Given the description of an element on the screen output the (x, y) to click on. 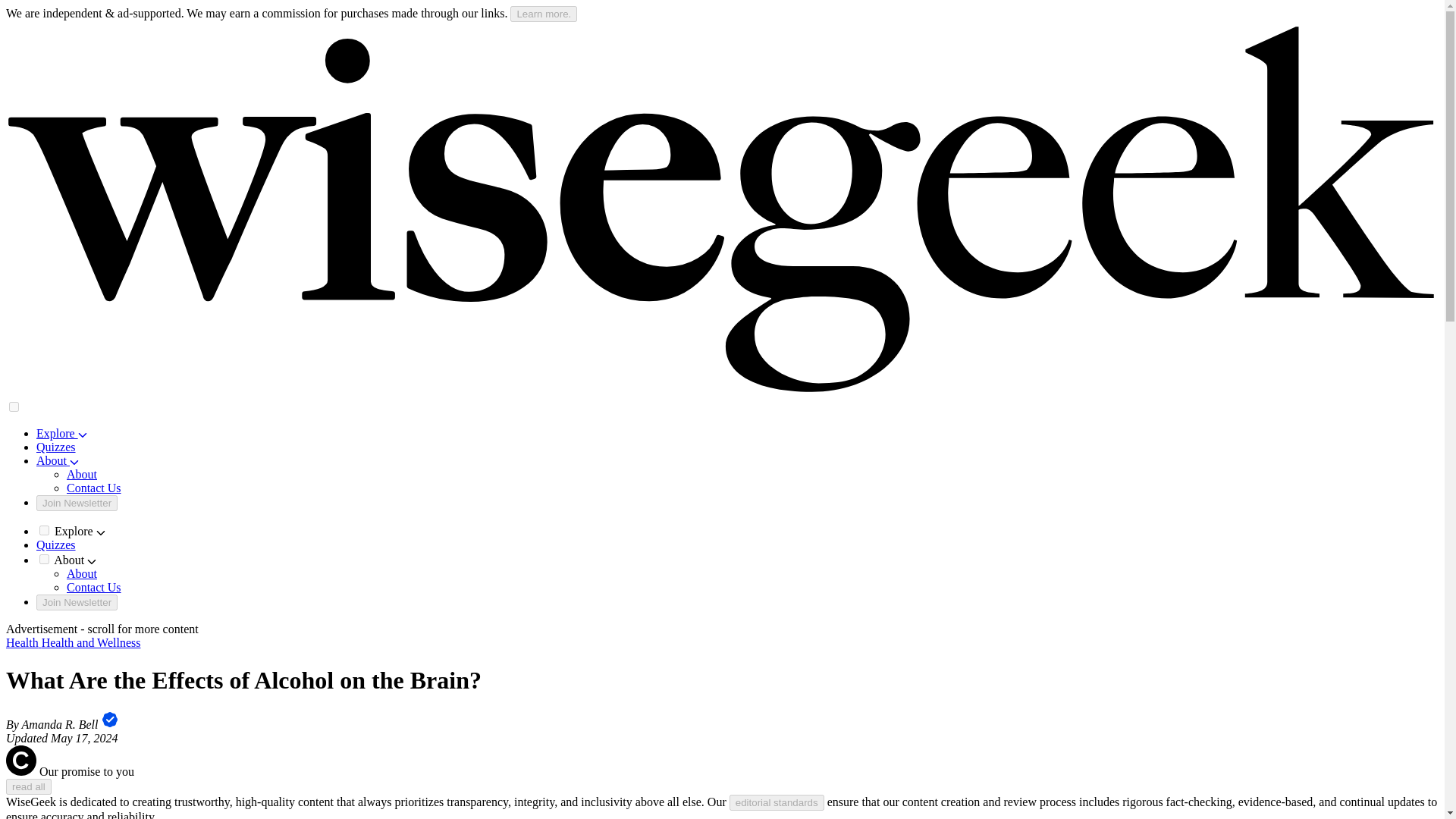
Join Newsletter (76, 602)
Contact Us (93, 487)
read all (27, 786)
Join Newsletter (76, 503)
Explore (61, 432)
on (13, 406)
Quizzes (55, 544)
on (44, 530)
About (81, 573)
Contact Us (93, 586)
Quizzes (55, 446)
About (81, 473)
on (44, 559)
Health Health and Wellness (72, 642)
Learn more. (543, 13)
